Given the description of an element on the screen output the (x, y) to click on. 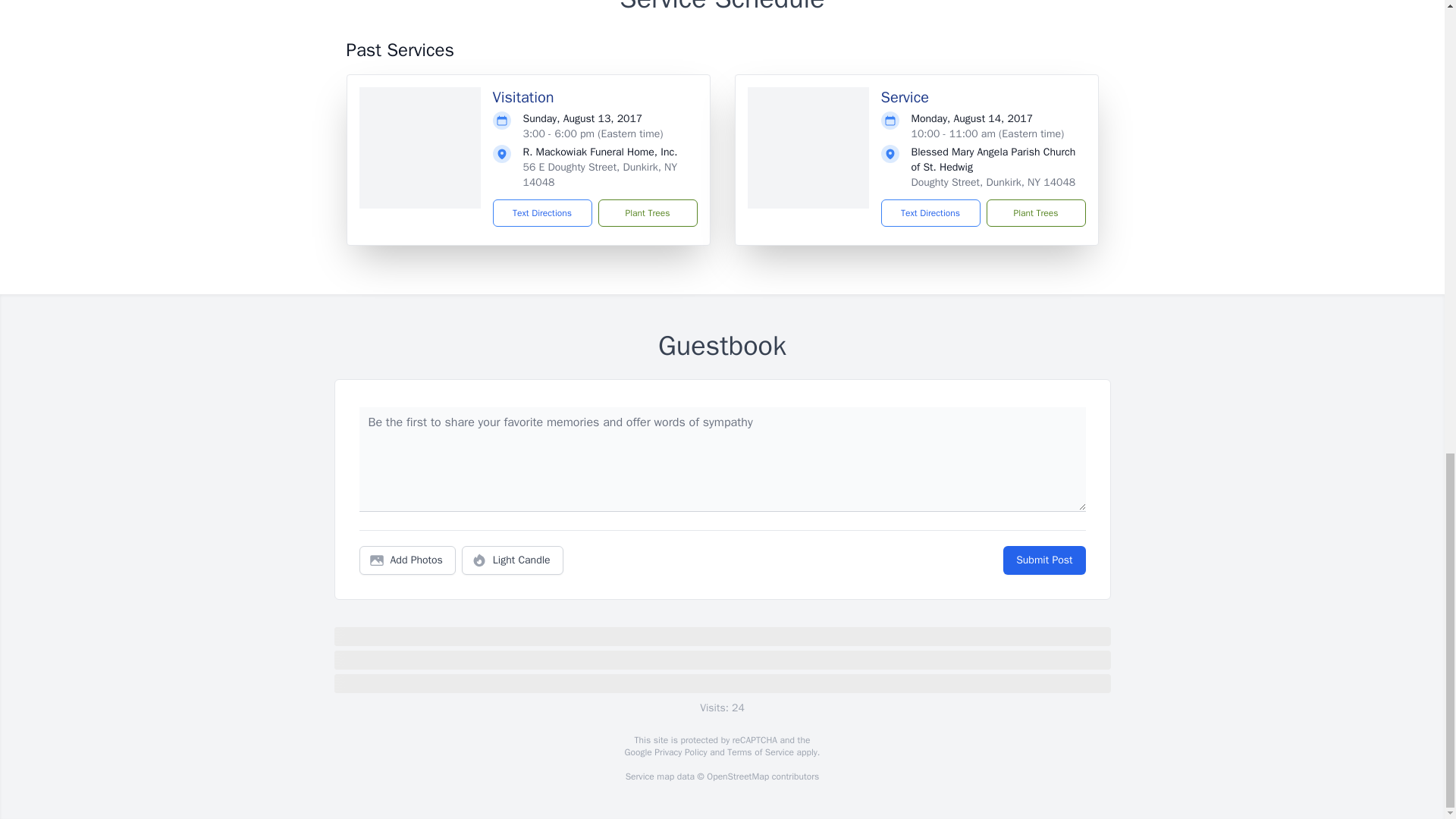
OpenStreetMap (737, 776)
56 E Doughty Street, Dunkirk, NY 14048 (600, 174)
Add Photos (407, 560)
Submit Post (1043, 560)
Doughty Street, Dunkirk, NY 14048 (993, 182)
Text Directions (929, 212)
Plant Trees (646, 212)
Plant Trees (1034, 212)
Light Candle (512, 560)
Privacy Policy (679, 752)
